Given the description of an element on the screen output the (x, y) to click on. 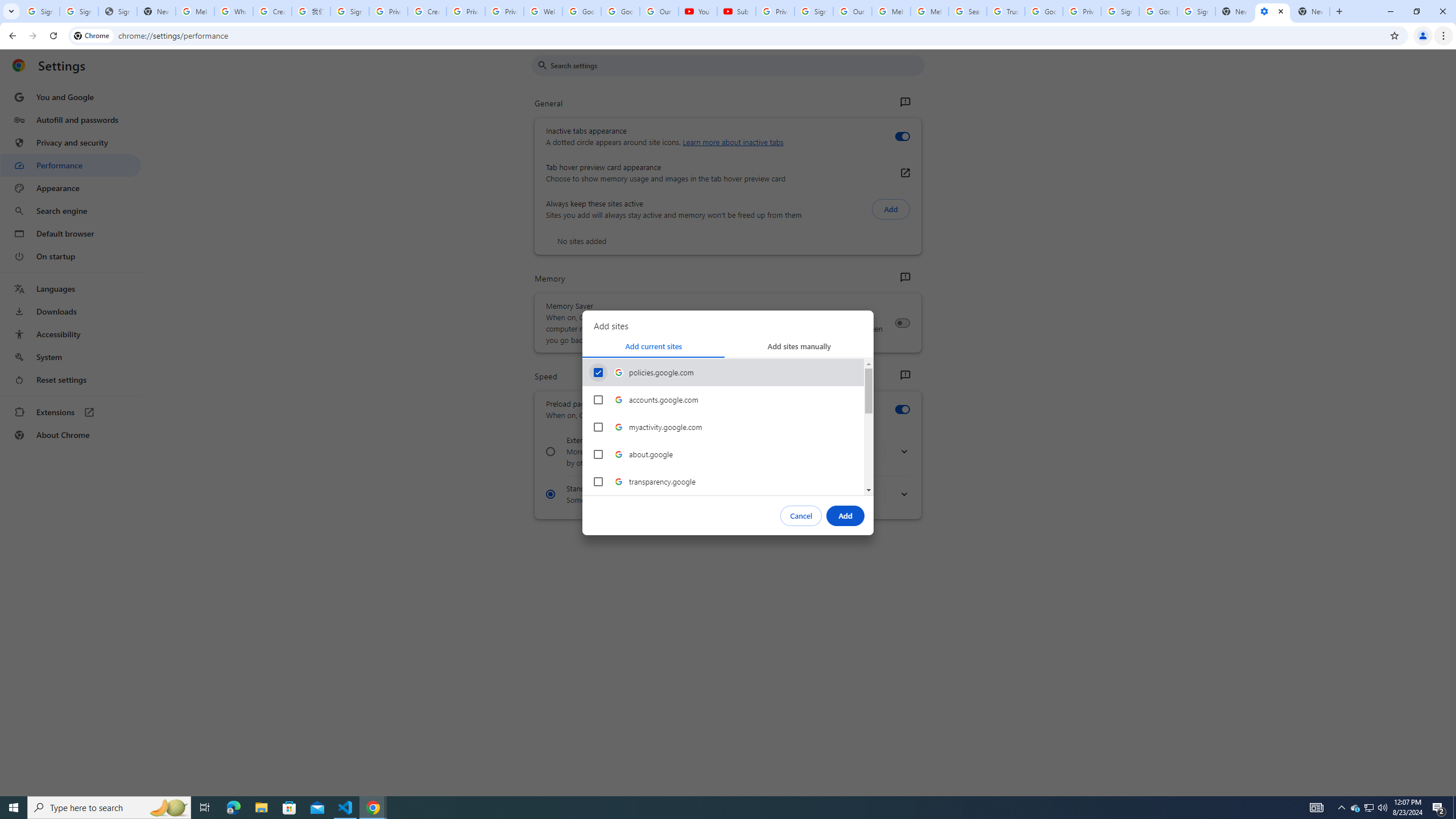
Welcome to My Activity (542, 11)
YouTube (697, 11)
Sign in - Google Accounts (1196, 11)
Google Account (620, 11)
AutomationID: checkmark (598, 372)
Search our Doodle Library Collection - Google Doodles (967, 11)
policies.google.com (722, 372)
Who is my administrator? - Google Account Help (233, 11)
Add (845, 515)
